Given the description of an element on the screen output the (x, y) to click on. 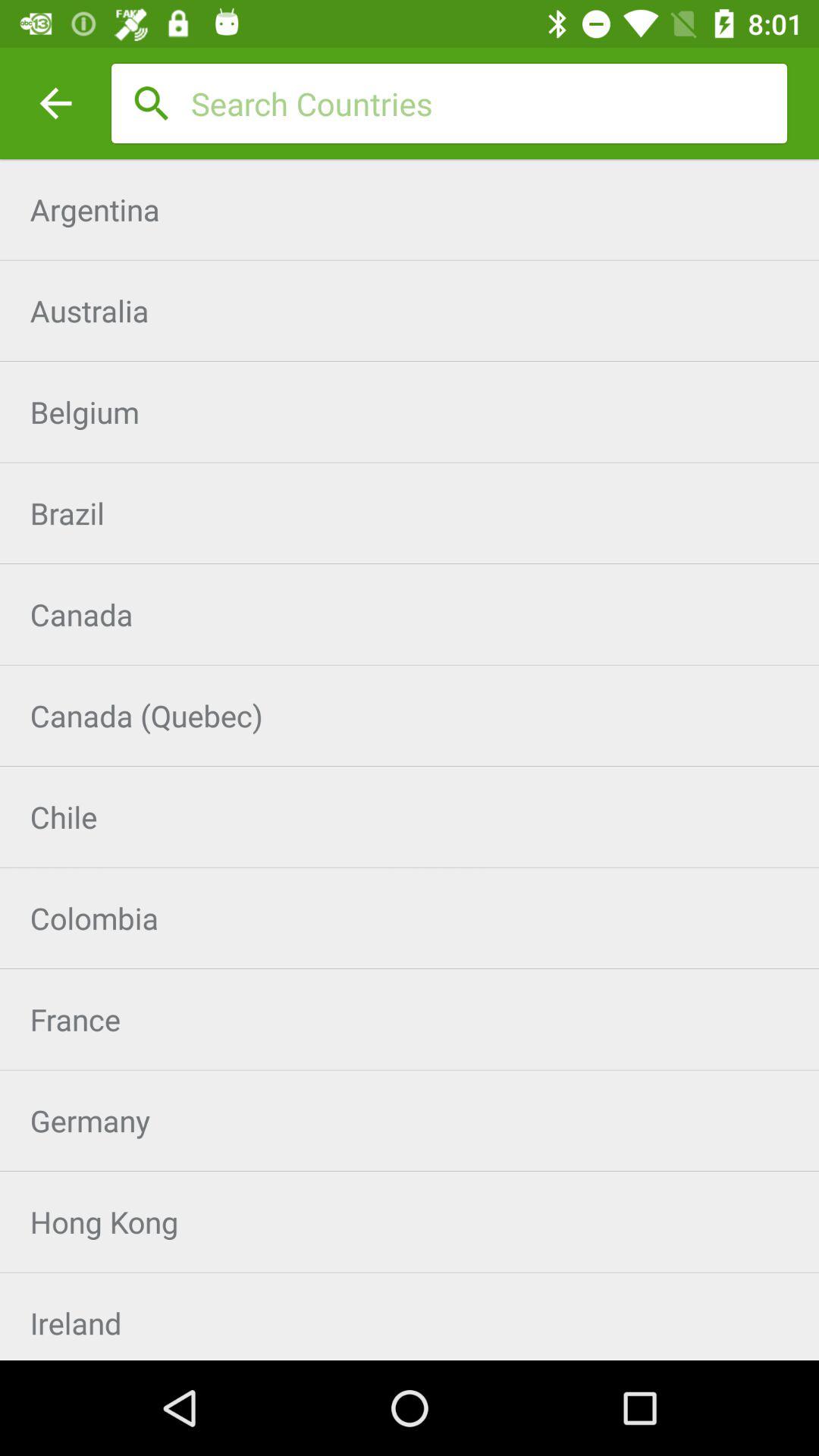
turn on the icon above the belgium item (409, 310)
